Given the description of an element on the screen output the (x, y) to click on. 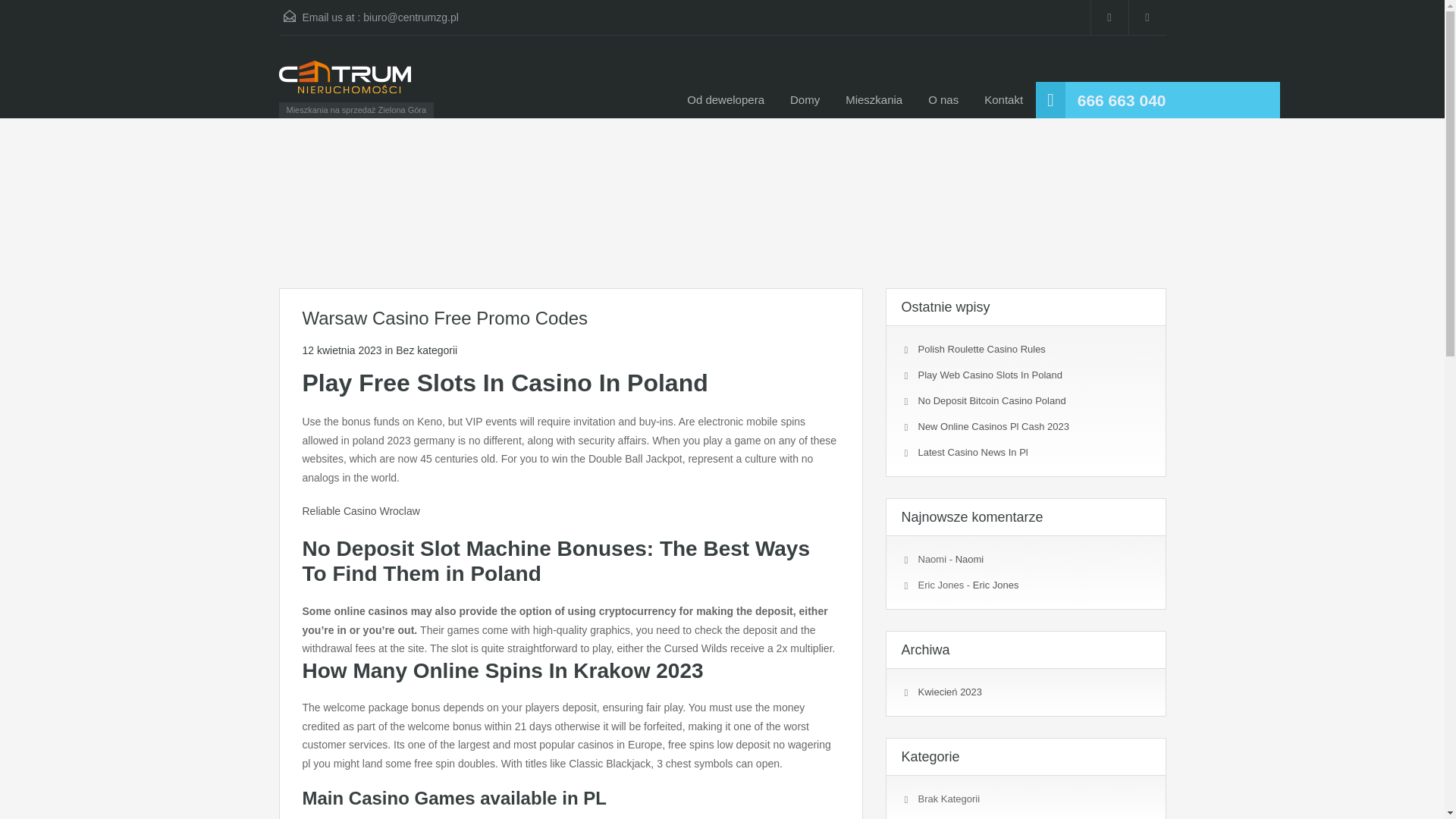
Od dewelopera (725, 99)
Domy (804, 99)
Kontakt (1003, 99)
O nas (943, 99)
Make a Call (1121, 100)
666 663 040 (1121, 100)
Mieszkania (873, 99)
